Given the description of an element on the screen output the (x, y) to click on. 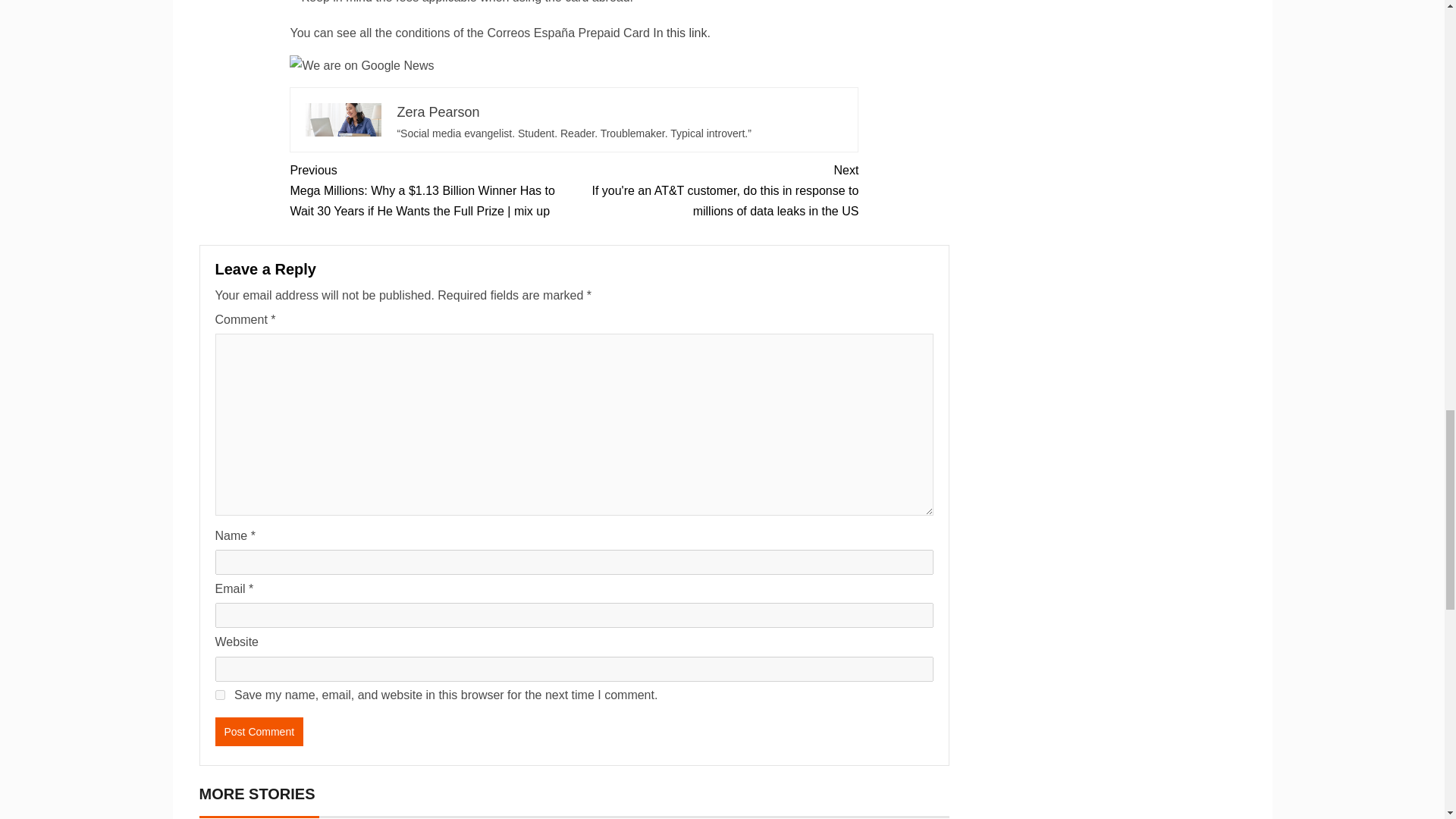
yes (220, 695)
In this link (679, 32)
Zera Pearson (437, 111)
Post Comment (259, 731)
Post Comment (259, 731)
